Given the description of an element on the screen output the (x, y) to click on. 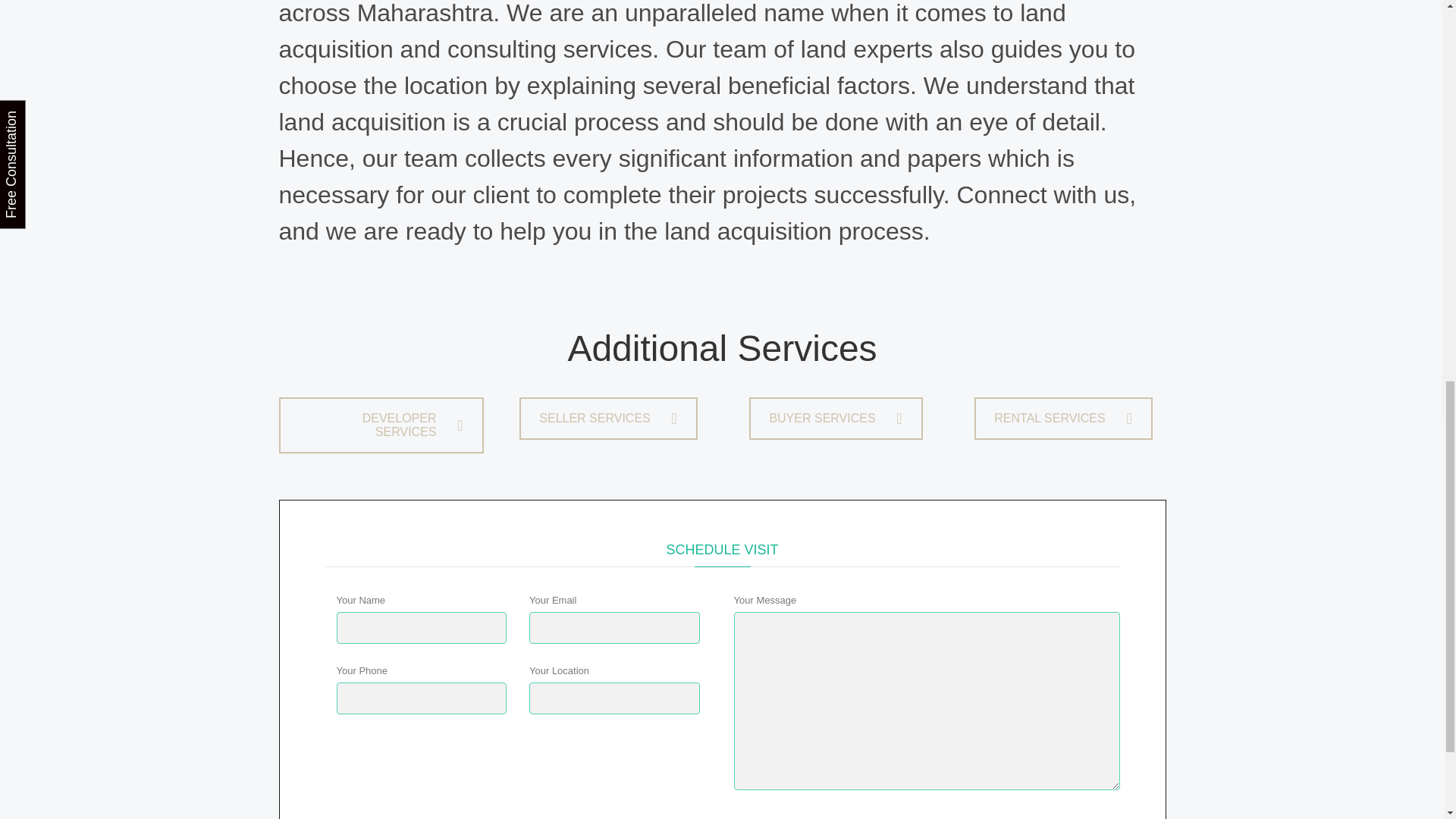
DEVELOPER SERVICES (381, 425)
BUYER SERVICES (835, 418)
RENTAL SERVICES (1062, 418)
SELLER SERVICES (608, 418)
